Given the description of an element on the screen output the (x, y) to click on. 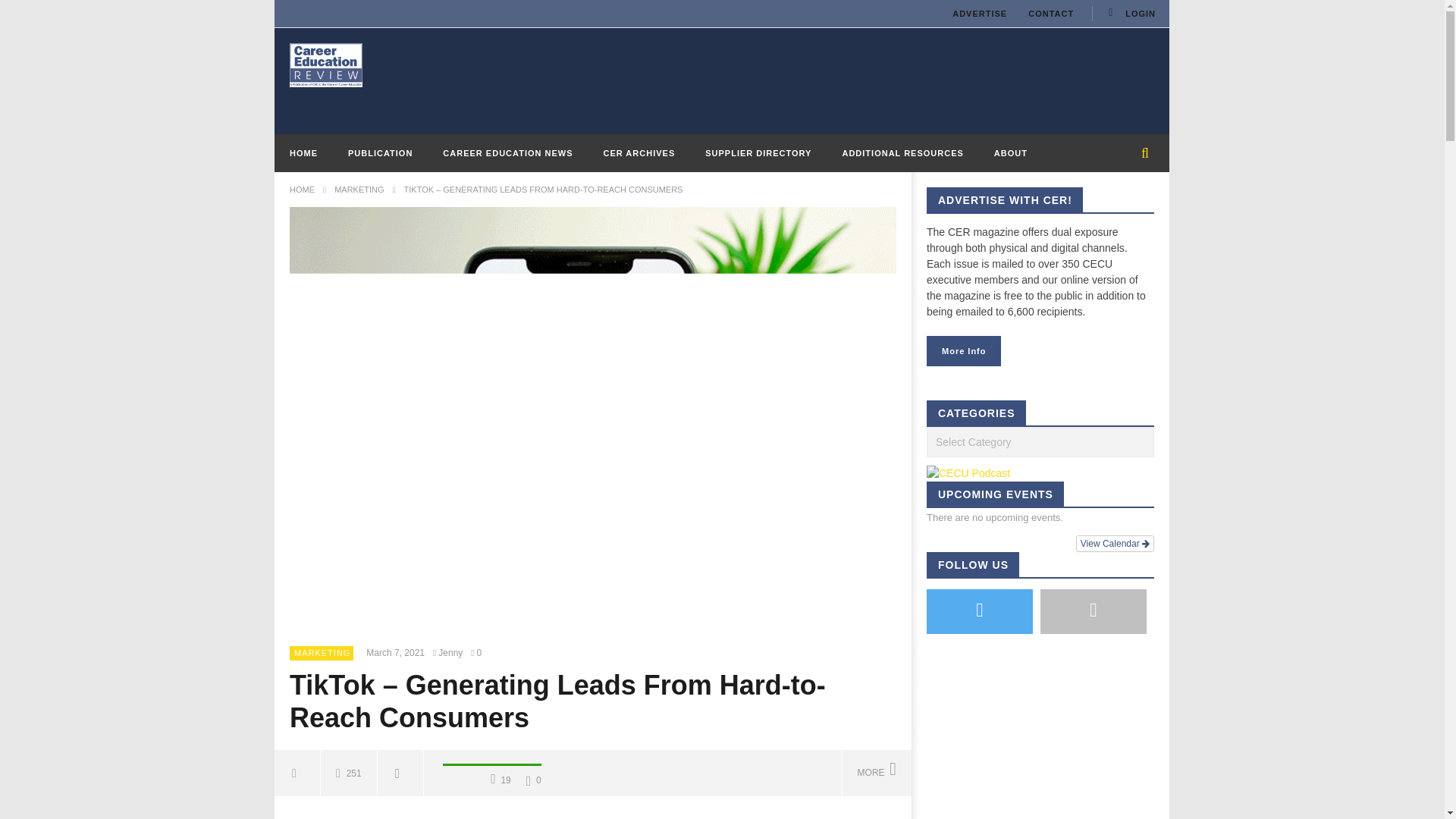
CER ARCHIVES (639, 152)
Posts by Jenny (449, 653)
LOGIN (1130, 13)
View all posts in Marketing (322, 652)
CAREER EDUCATION NEWS (508, 152)
HOME (304, 152)
Career Education Review (325, 64)
CONTACT (1050, 13)
PUBLICATION (380, 152)
ADVERTISE (979, 13)
